Given the description of an element on the screen output the (x, y) to click on. 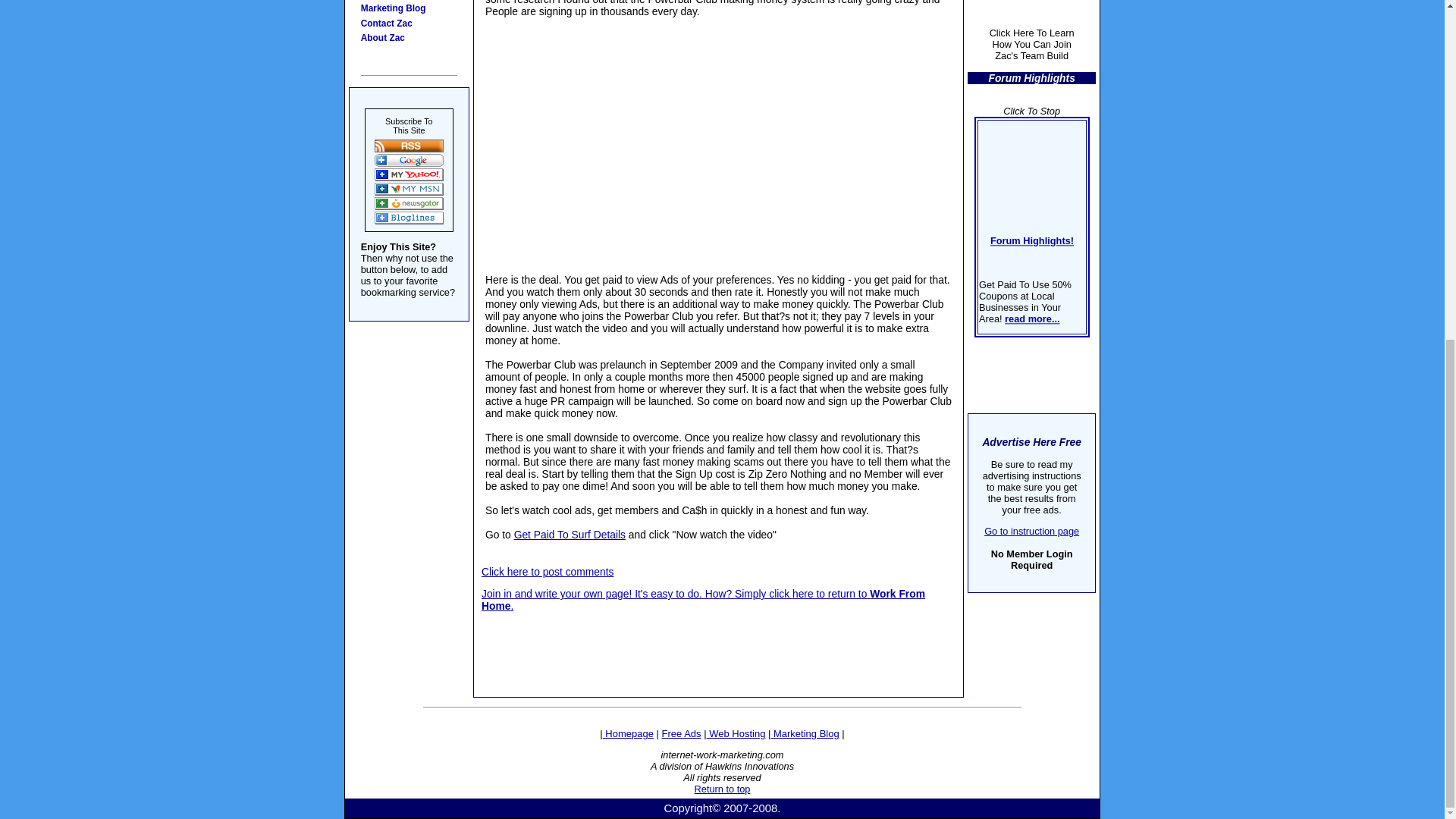
read more... (1021, 502)
Get Paid To Surf Details (569, 534)
Marketing Forum (412, 1)
Click here to post comments (546, 571)
Go to instruction page (1031, 531)
read more... (1031, 419)
Advertisement (718, 645)
read more... (1021, 458)
Advertisement (718, 146)
